Given the description of an element on the screen output the (x, y) to click on. 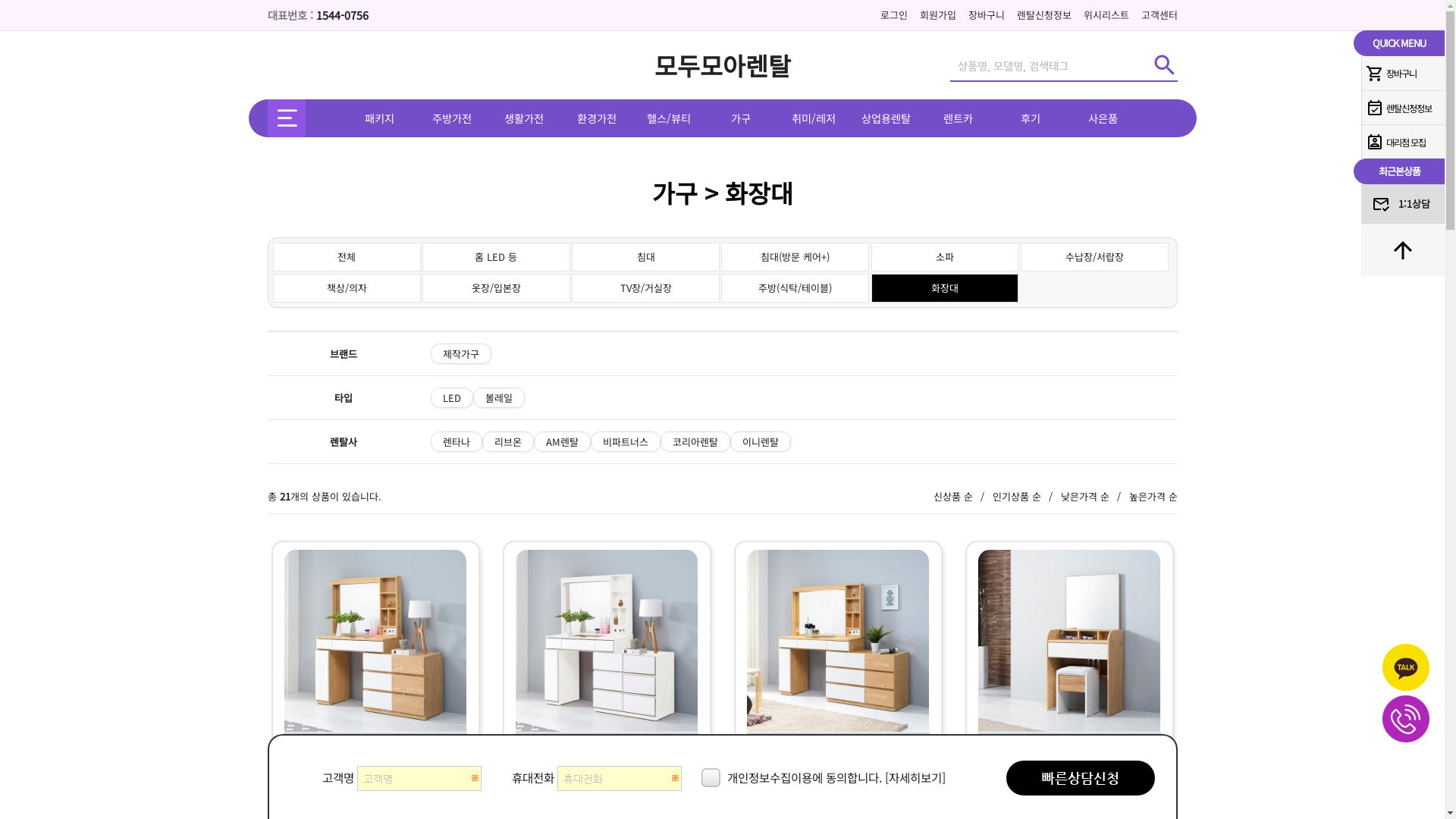
LED Element type: text (451, 397)
